Given the description of an element on the screen output the (x, y) to click on. 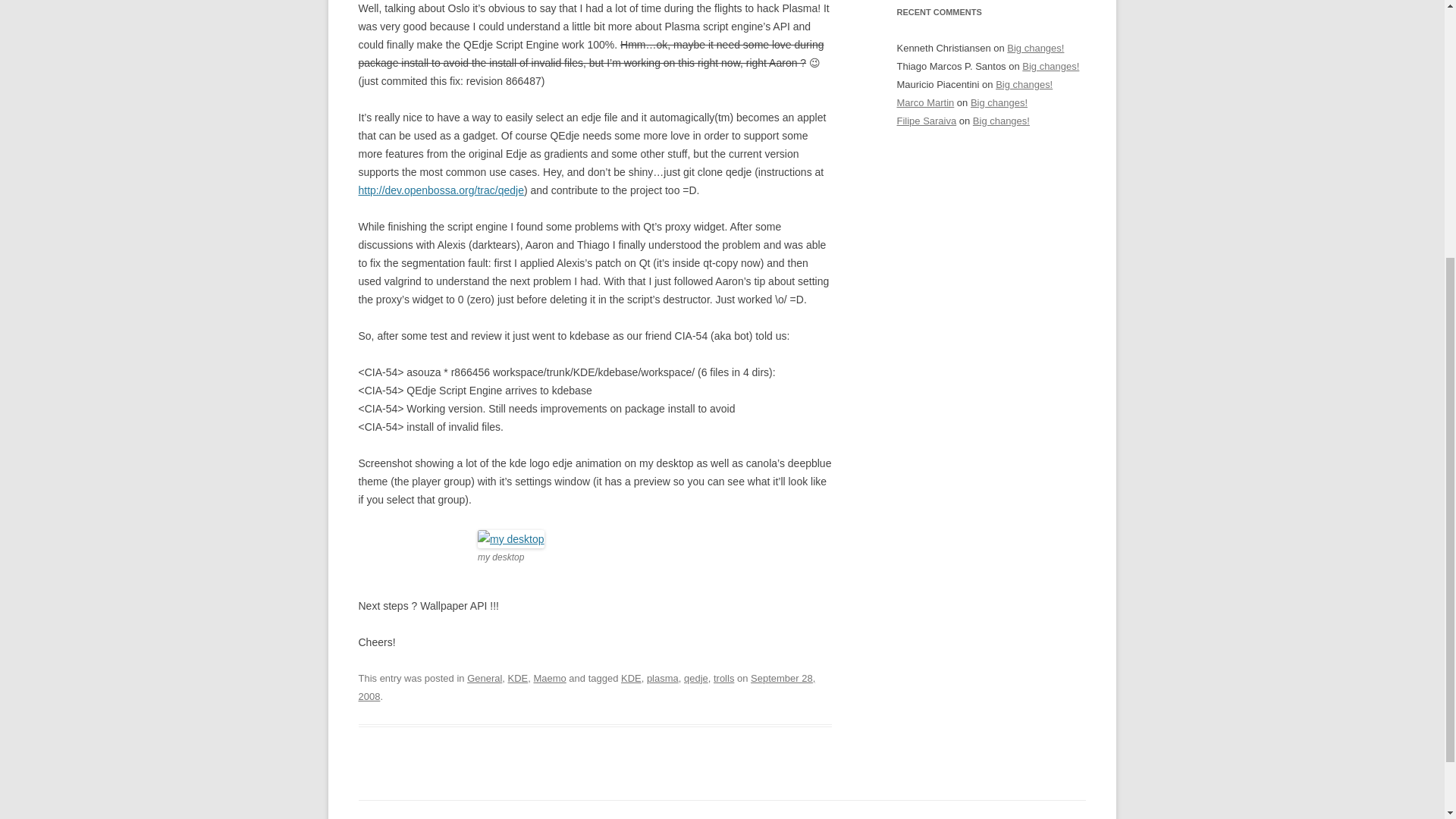
Big changes! (1050, 66)
plasma (662, 677)
9:47 pm (586, 686)
Filipe Saraiva (926, 120)
Marco Martin (924, 102)
Big changes! (999, 102)
Big changes! (1000, 120)
Maemo (549, 677)
qedjescript (510, 538)
trolls (723, 677)
qedje (695, 677)
KDE (518, 677)
KDE (631, 677)
Big changes! (1023, 84)
Big changes! (1035, 48)
